Given the description of an element on the screen output the (x, y) to click on. 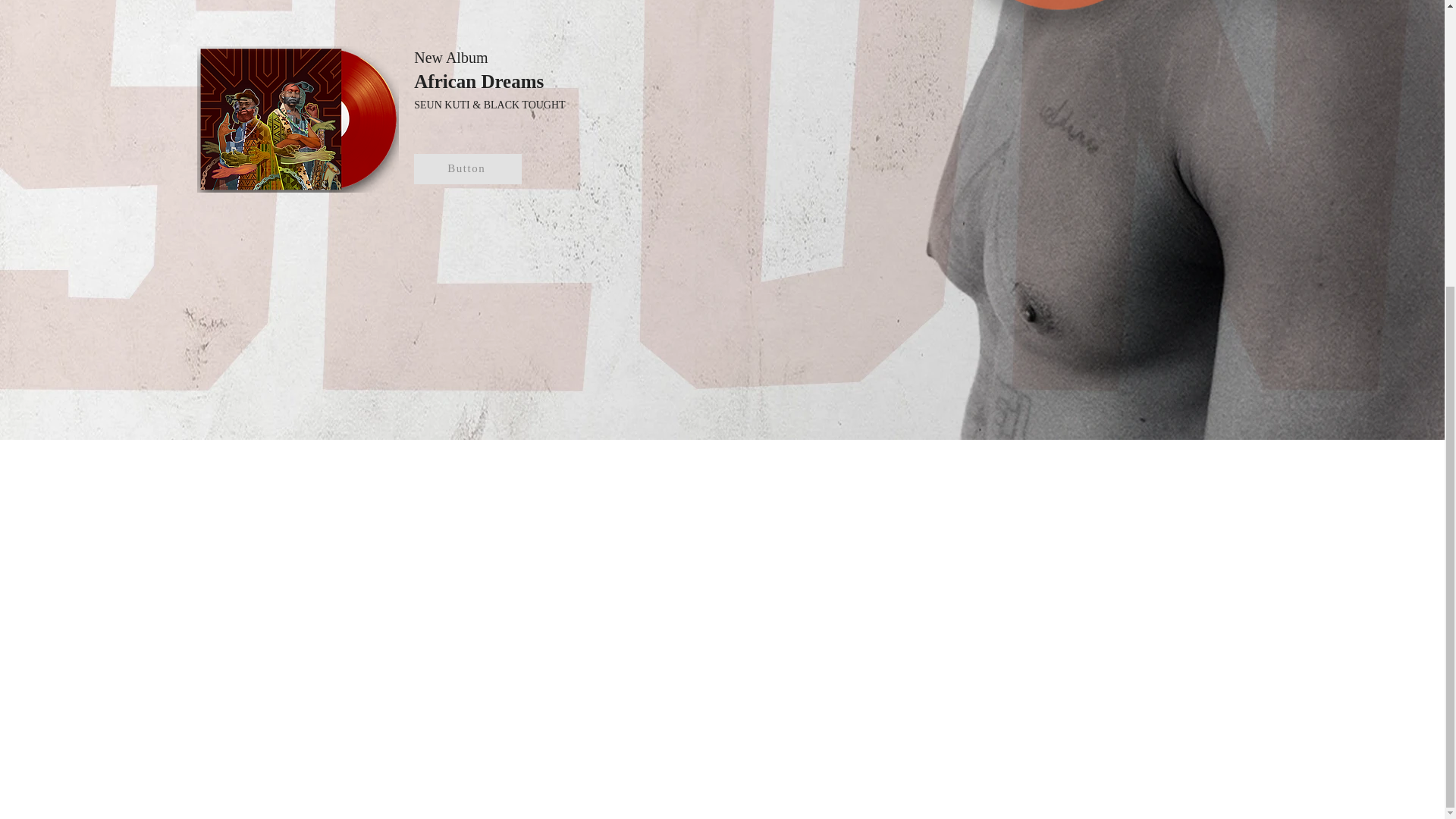
Button (467, 168)
